Given the description of an element on the screen output the (x, y) to click on. 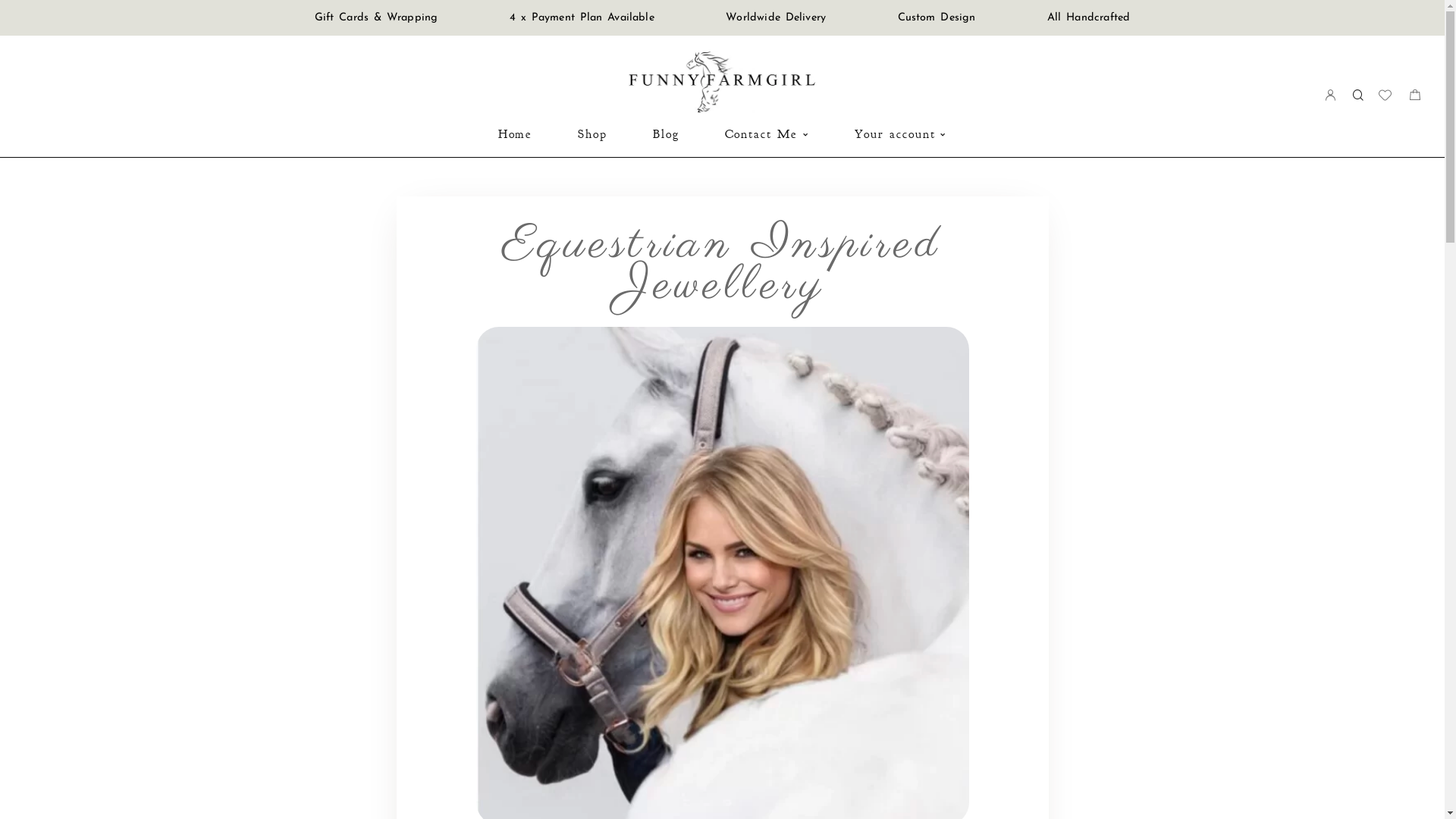
Shop Element type: text (592, 134)
Your account Element type: text (900, 134)
Login Element type: hover (1330, 95)
Contact Me Element type: text (767, 134)
Blog Element type: text (666, 134)
Home Element type: text (515, 134)
